Given the description of an element on the screen output the (x, y) to click on. 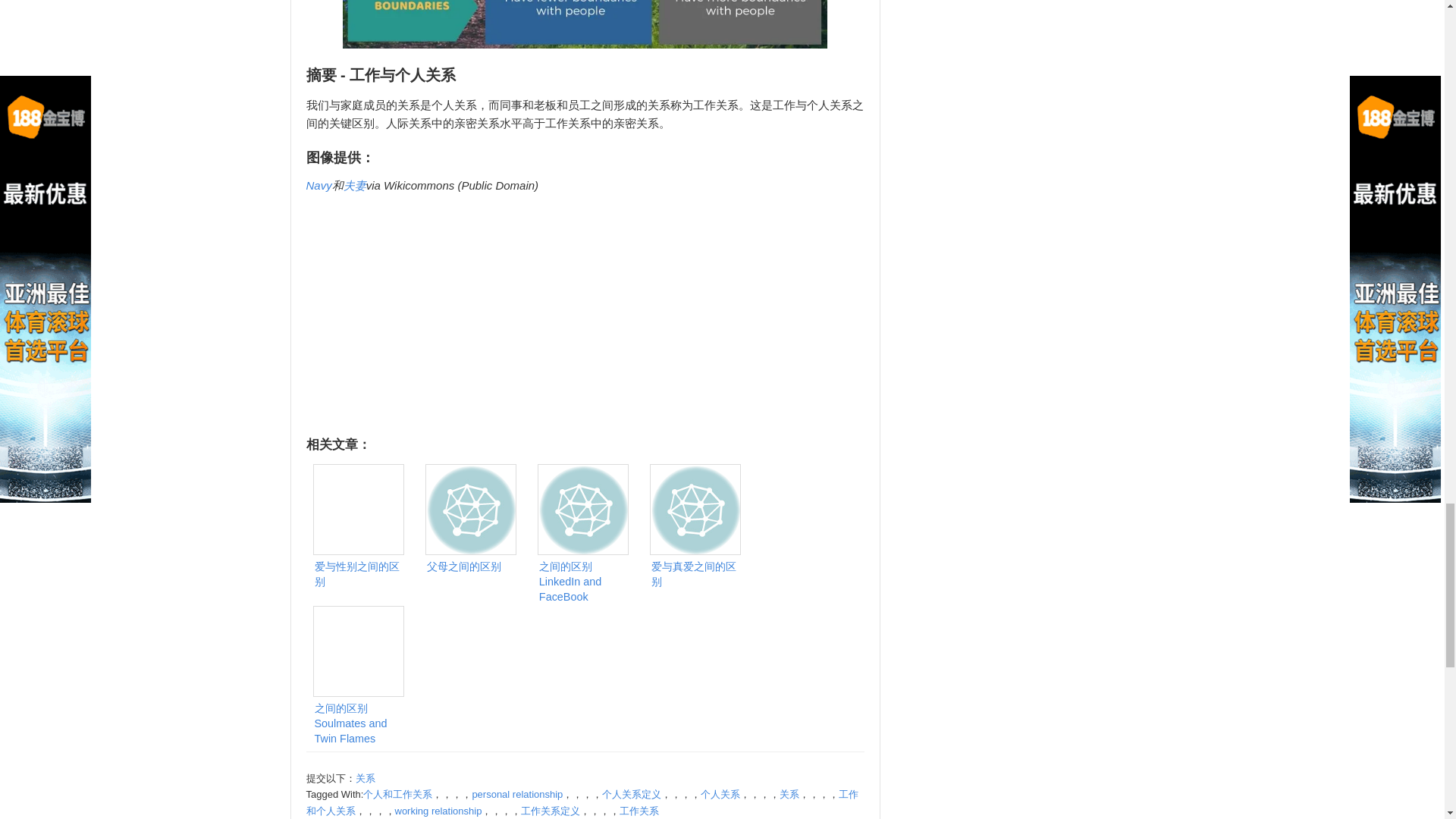
Navy (318, 185)
Difference Between Love and Sex 4 (358, 509)
Difference Between Working and Personal Relationships 3 (584, 23)
Difference Between Soulmates and Twin Flames 5 (358, 651)
working relationship (437, 810)
personal relationship (516, 794)
